Given the description of an element on the screen output the (x, y) to click on. 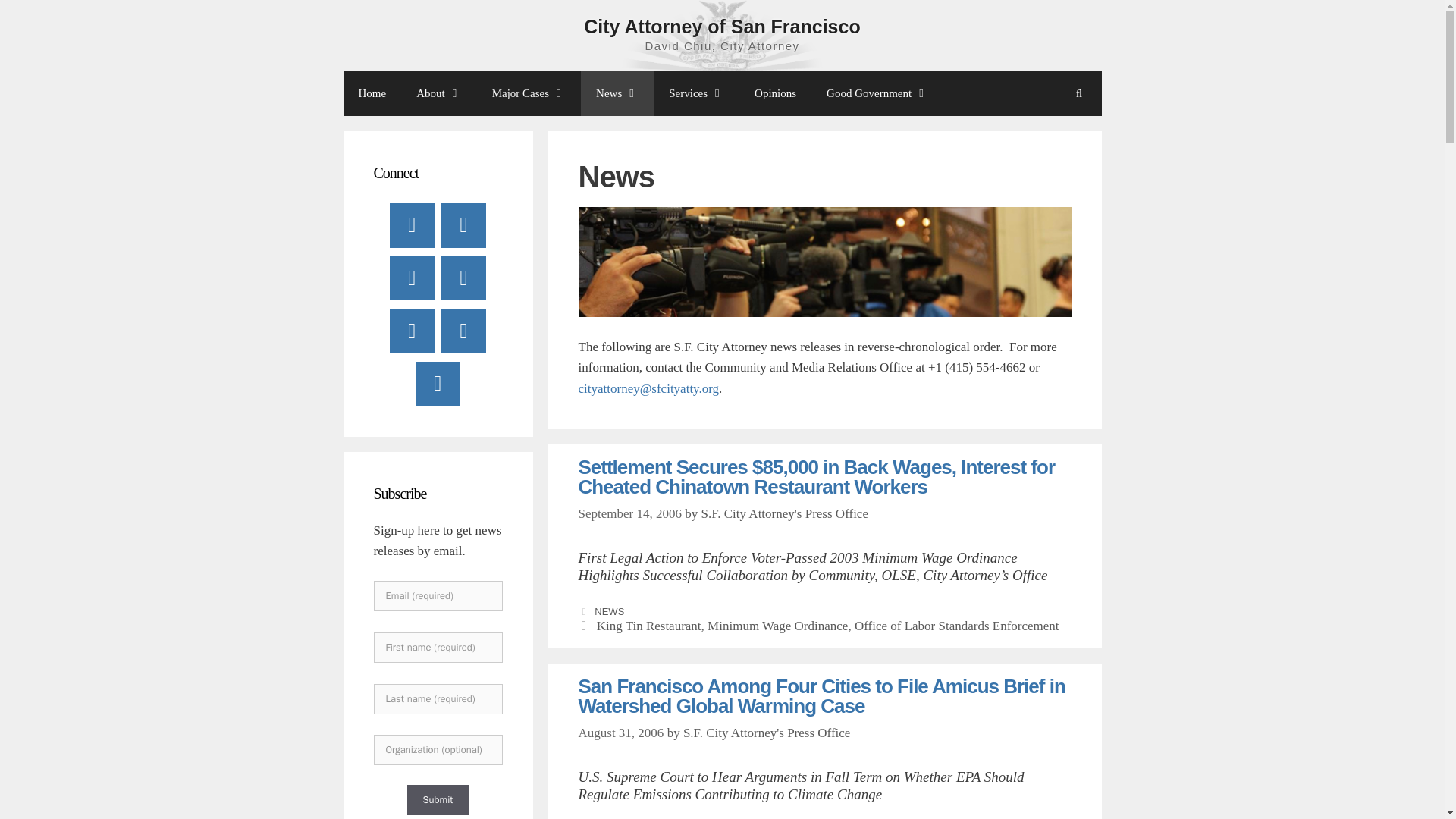
View all posts by S.F. City Attorney's Press Office (766, 732)
Home (371, 92)
Services (696, 92)
City Attorney of San Francisco (721, 25)
News (616, 92)
Major Cases (528, 92)
Submit (437, 799)
View all posts by S.F. City Attorney's Press Office (783, 513)
About (439, 92)
